Given the description of an element on the screen output the (x, y) to click on. 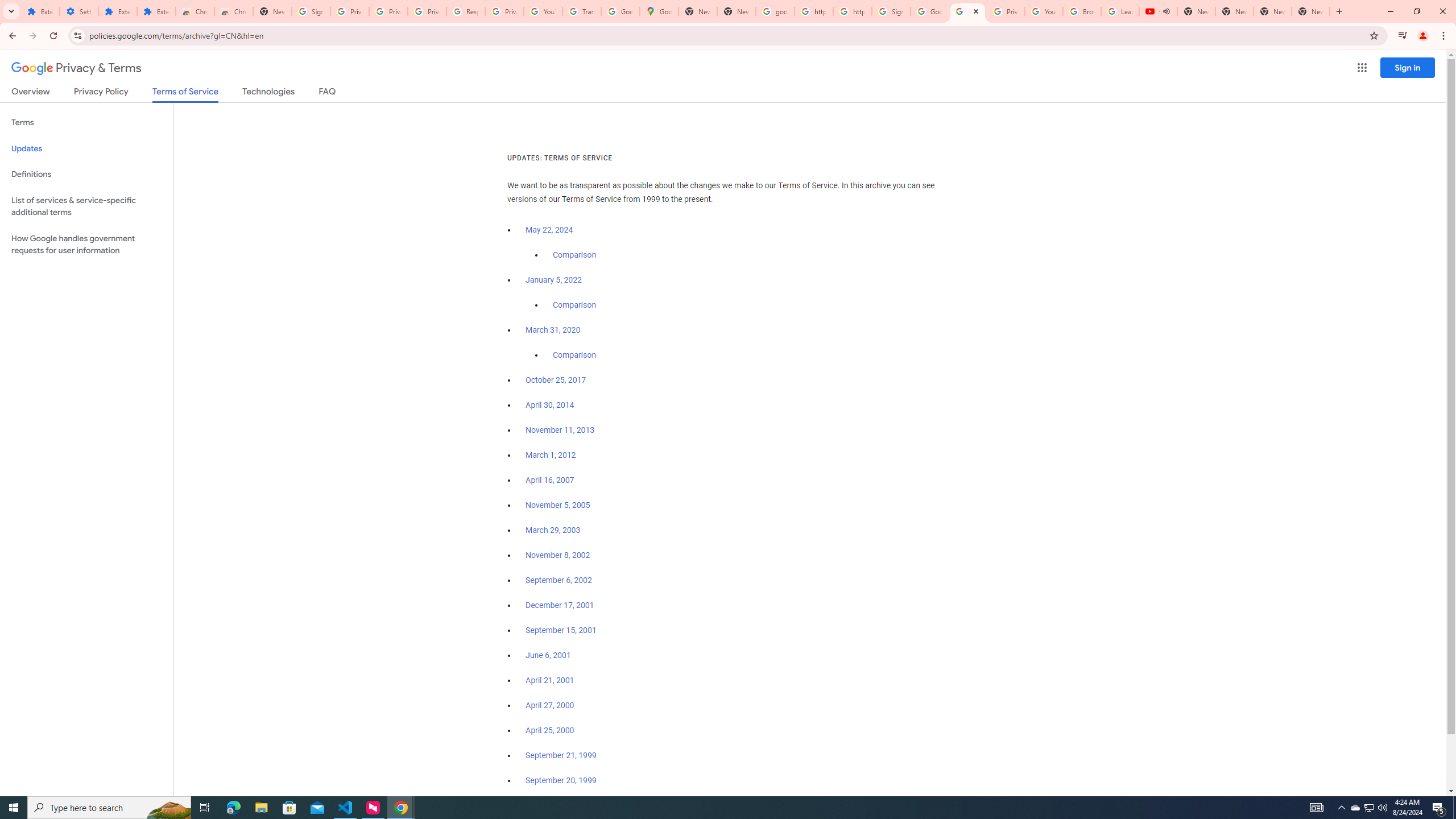
October 25, 2017 (555, 380)
April 16, 2007 (550, 480)
November 5, 2005 (557, 505)
Chrome Web Store (194, 11)
March 1, 2012 (550, 455)
Sign in - Google Accounts (890, 11)
March 29, 2003 (552, 530)
